Given the description of an element on the screen output the (x, y) to click on. 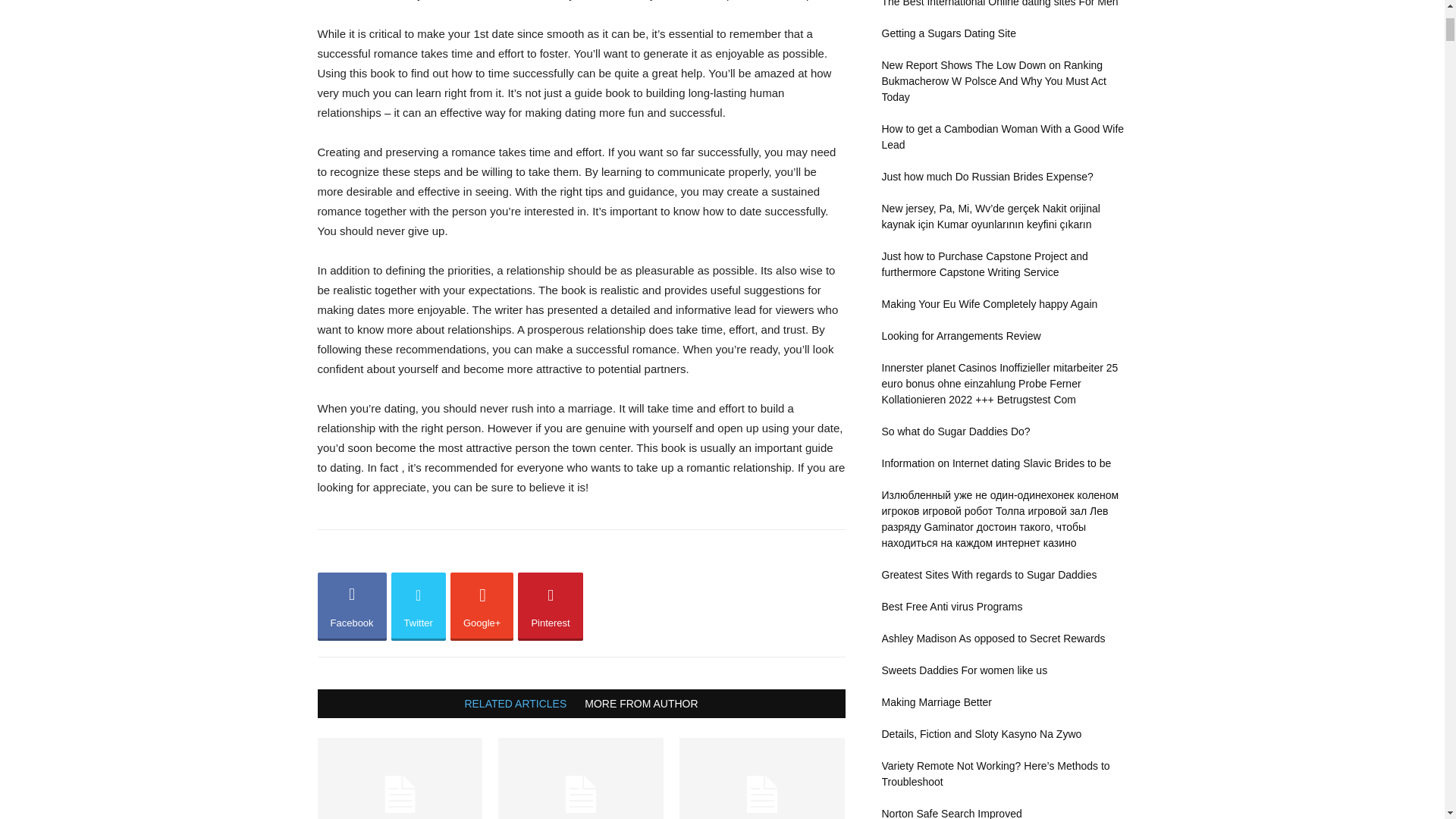
Pinterest (550, 606)
Seeking Side Hustle Opportunities (761, 778)
Facebook (351, 606)
Top 10 AI Essay Writing Tools for Academic Excellence (399, 778)
